Given the description of an element on the screen output the (x, y) to click on. 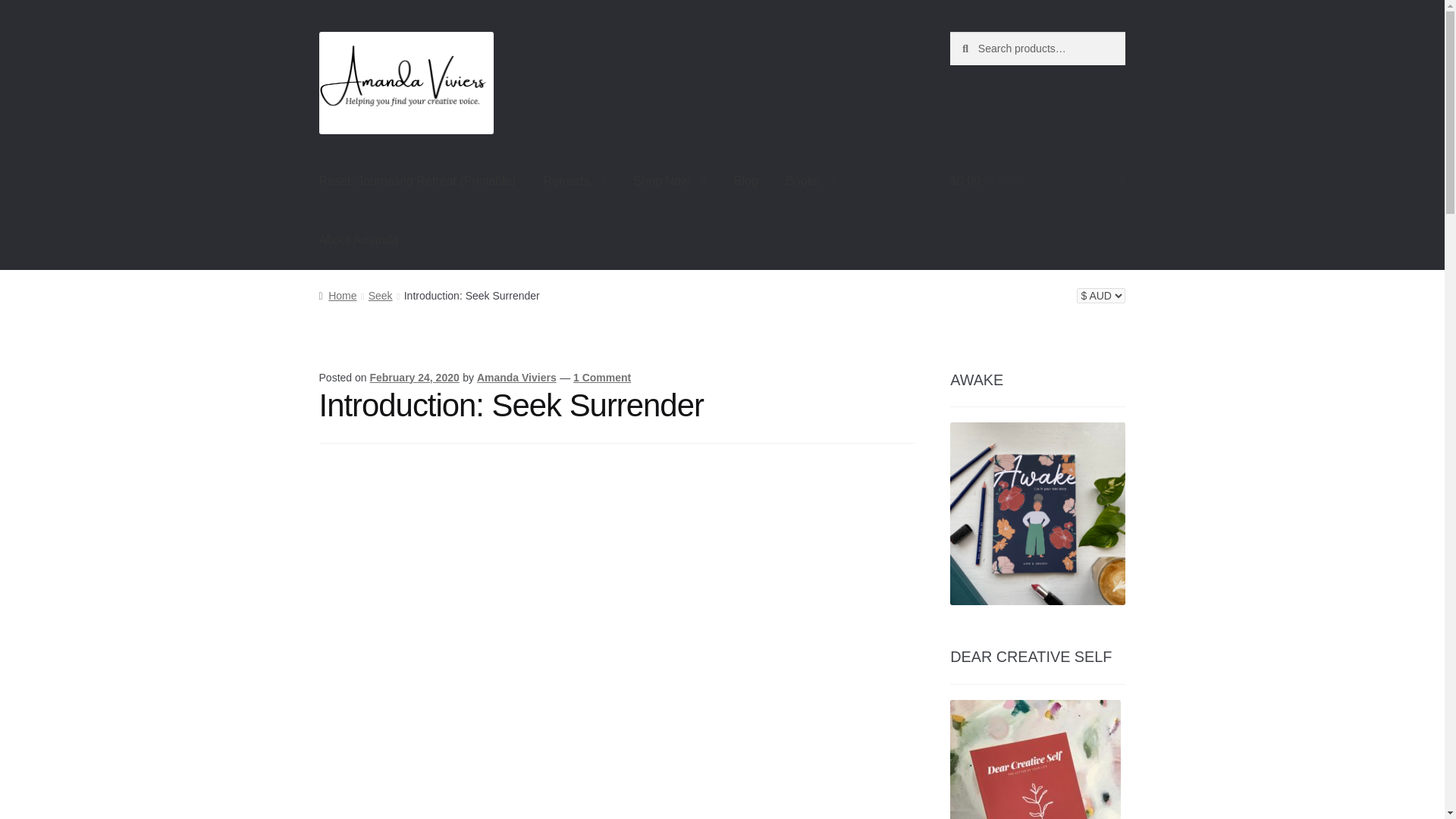
View your shopping cart (1037, 180)
Shop Now (669, 180)
About Amanda (358, 240)
Books (810, 180)
DEAR CREATIVE SELF (1035, 759)
Retreats (574, 180)
AWAKE (1037, 513)
